Given the description of an element on the screen output the (x, y) to click on. 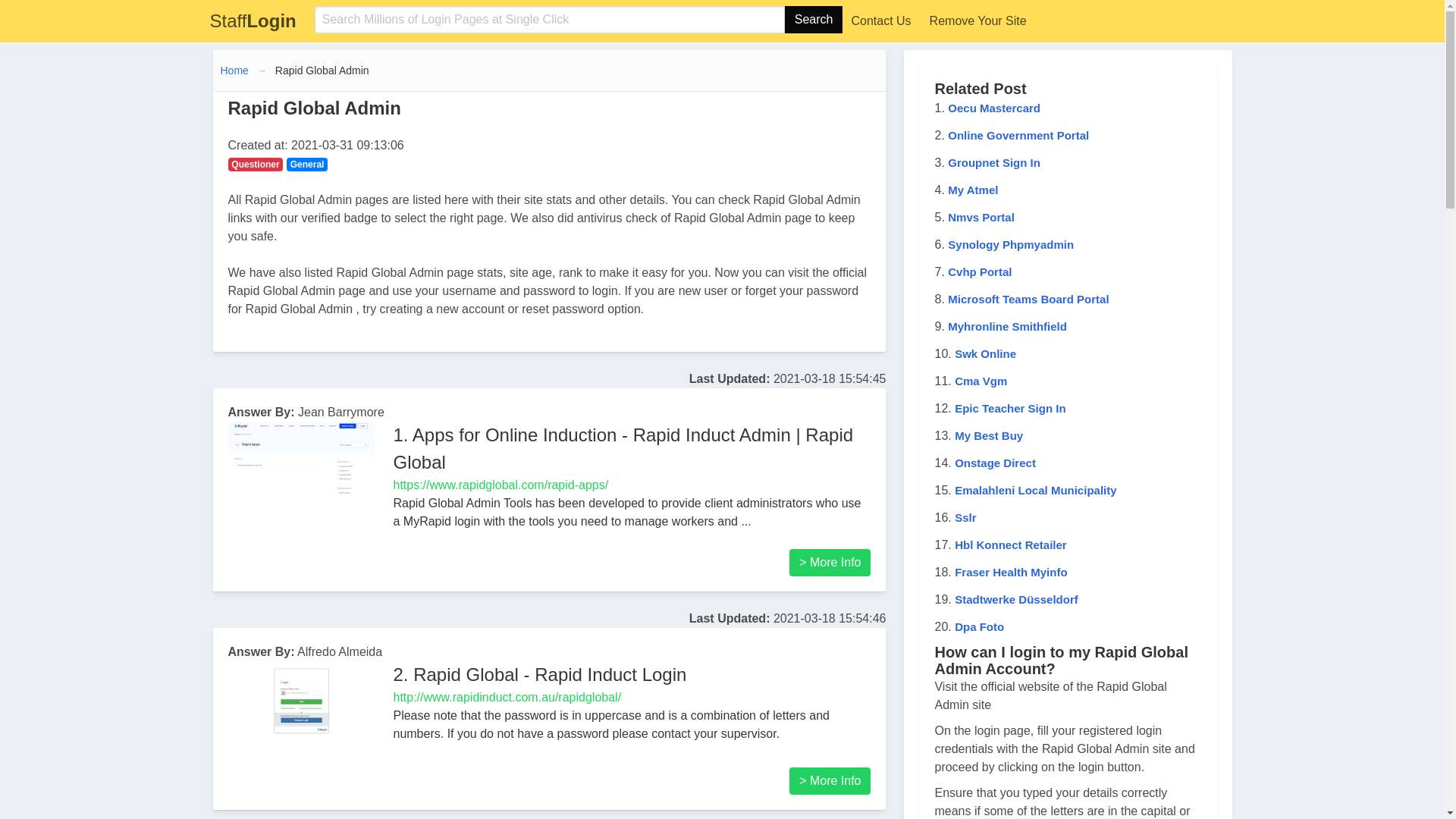
2. Rapid Global - Rapid Induct Login (1011, 571)
Search (1027, 298)
